Given the description of an element on the screen output the (x, y) to click on. 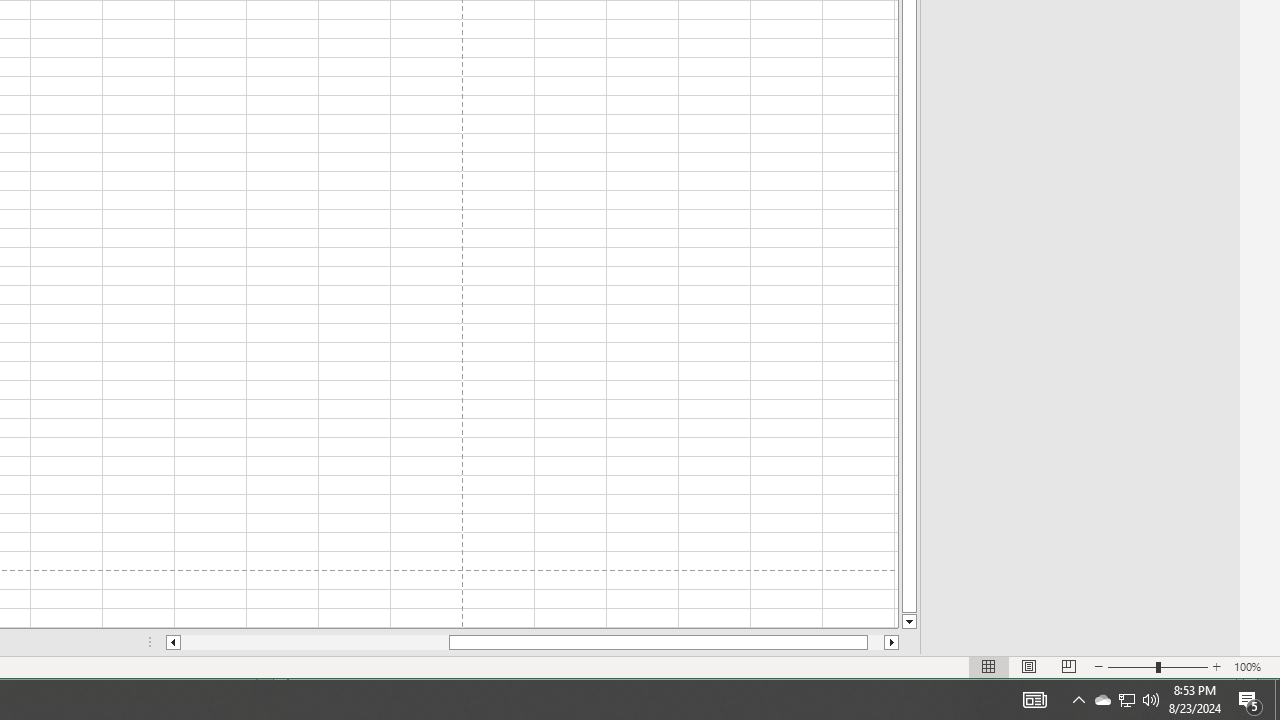
Action Center, 5 new notifications (1250, 699)
Page left (314, 642)
